Given the description of an element on the screen output the (x, y) to click on. 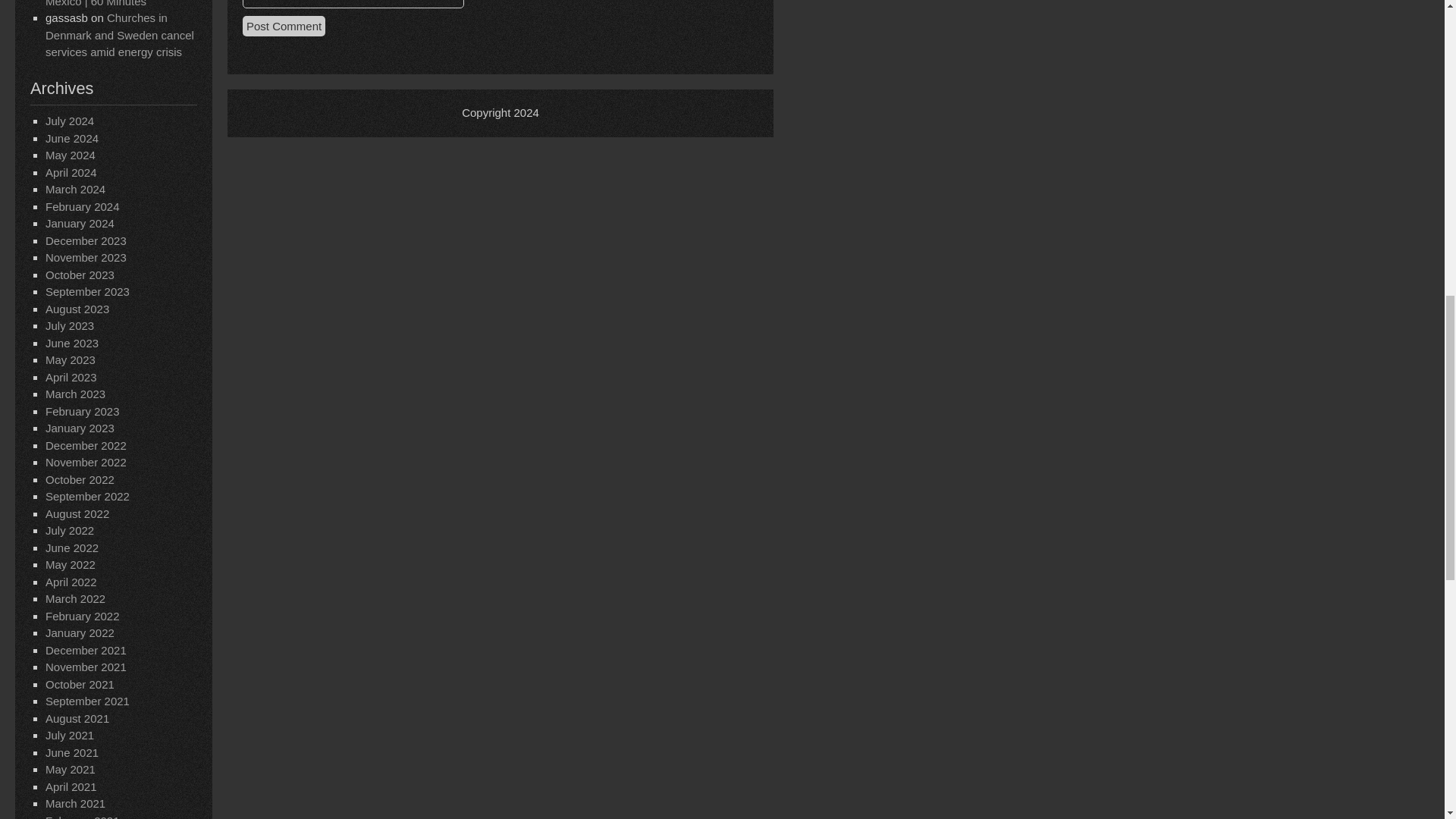
July 2022 (69, 530)
May 2023 (70, 359)
December 2023 (85, 240)
March 2024 (74, 188)
September 2023 (87, 291)
May 2024 (70, 154)
November 2023 (85, 256)
April 2024 (71, 172)
October 2022 (80, 479)
April 2023 (71, 377)
March 2023 (74, 393)
August 2022 (77, 513)
January 2023 (80, 427)
June 2024 (72, 137)
November 2022 (85, 461)
